Given the description of an element on the screen output the (x, y) to click on. 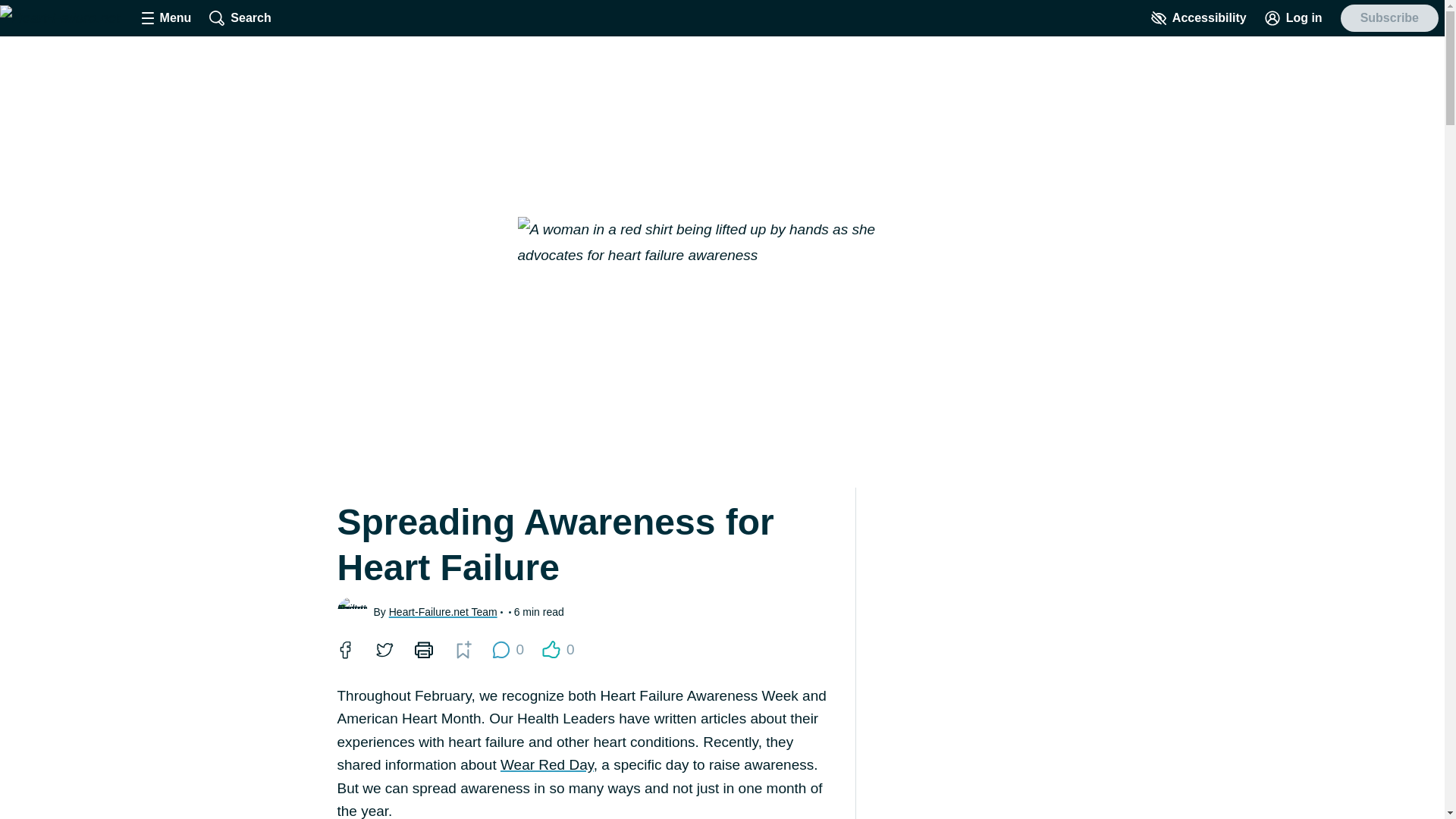
Share to Facebook (344, 649)
Share to Facebook (506, 649)
Menu (343, 649)
Subscribe (166, 18)
Bookmark for later (1389, 17)
Share to Twitter (461, 649)
Wear Red Day (383, 649)
Bookmark for later (547, 764)
comment (462, 649)
